Given the description of an element on the screen output the (x, y) to click on. 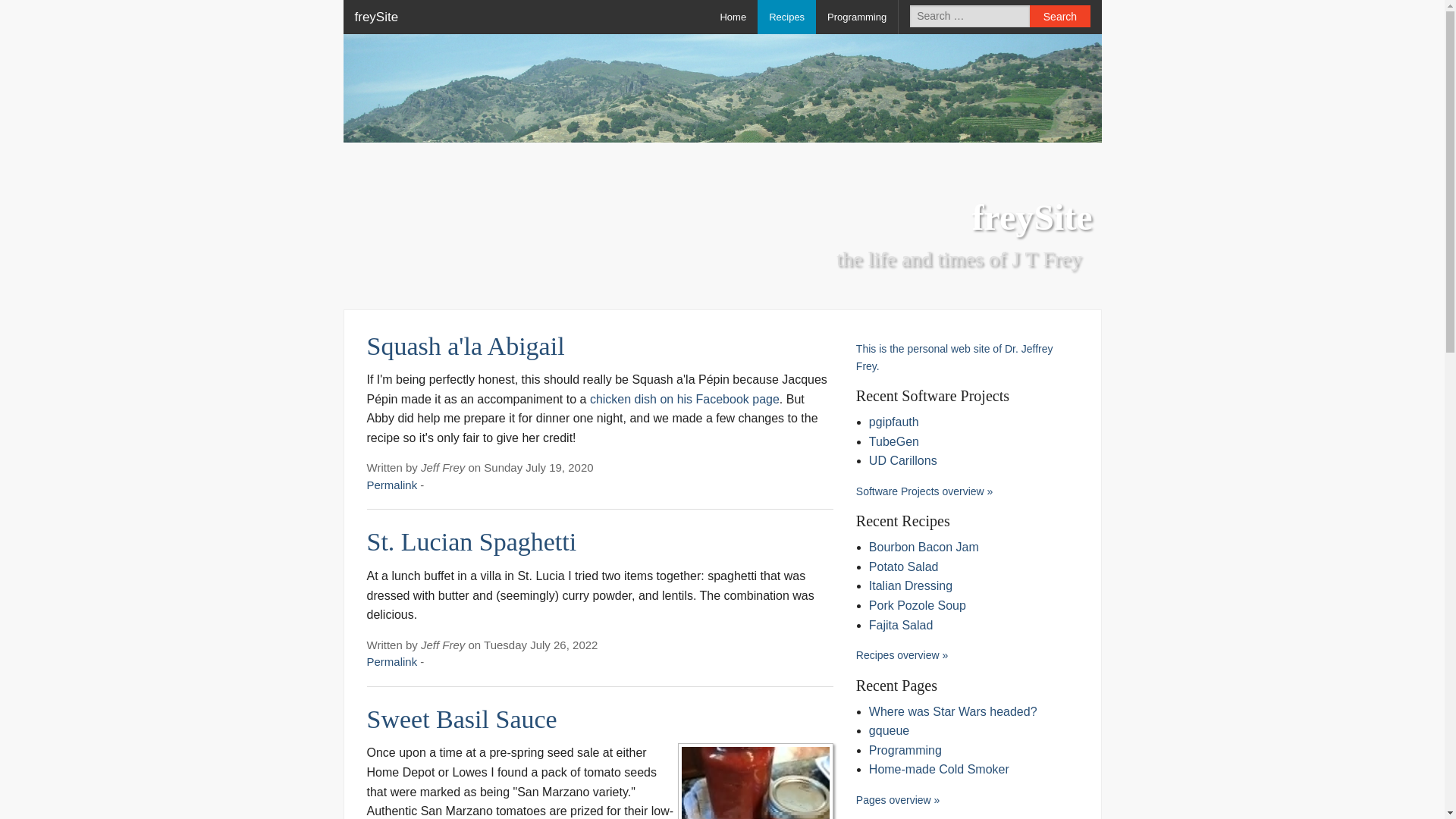
pgipfauth (893, 421)
Permalink (391, 661)
Sweet Basil Sauce (461, 719)
St. Lucian Spaghetti (471, 541)
Potato Salad (904, 566)
Search (1059, 15)
TubeGen (893, 440)
Programming (856, 17)
Bourbon Bacon Jam (923, 546)
Front page (732, 17)
